Given the description of an element on the screen output the (x, y) to click on. 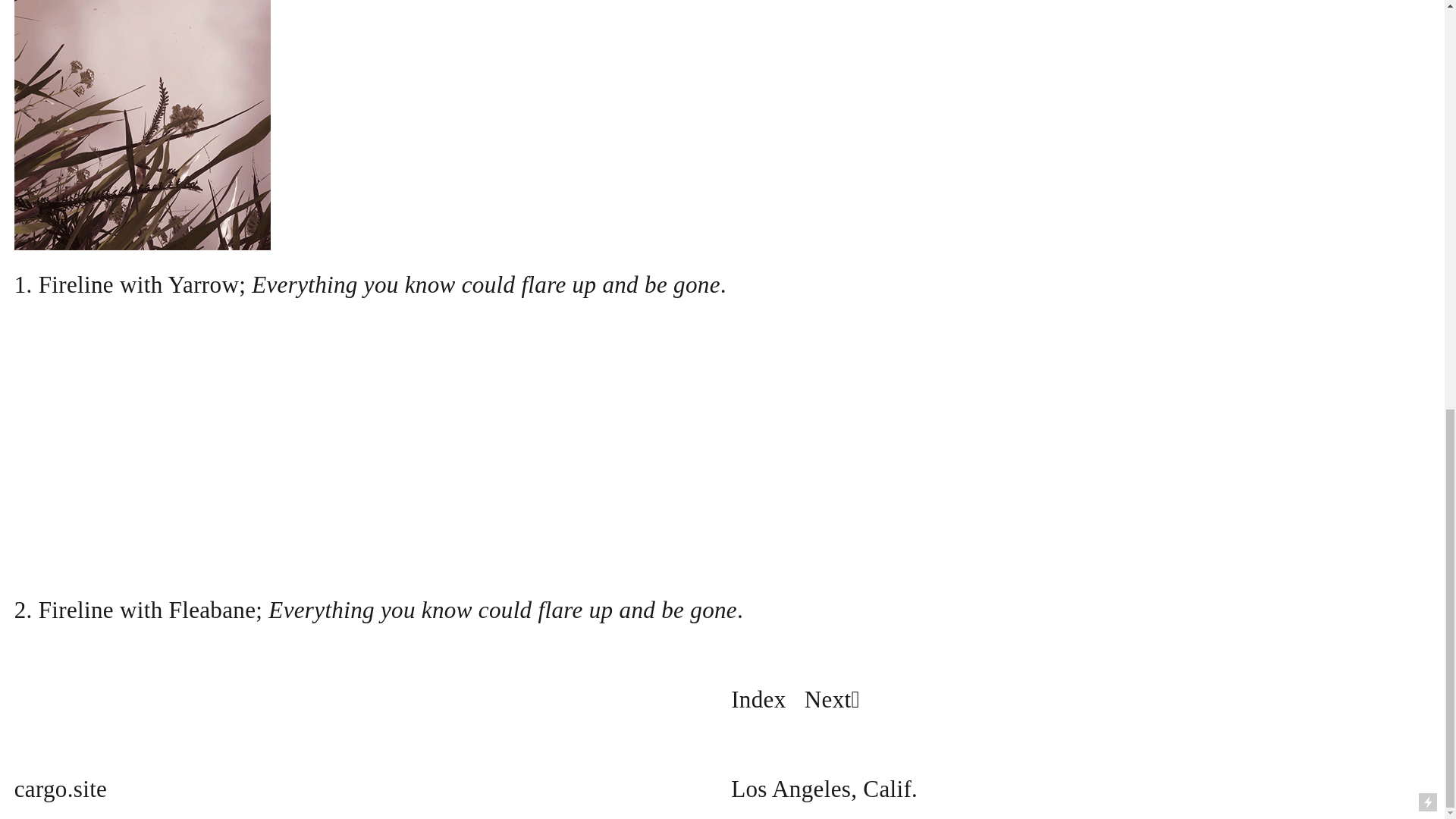
Index (758, 700)
